Given the description of an element on the screen output the (x, y) to click on. 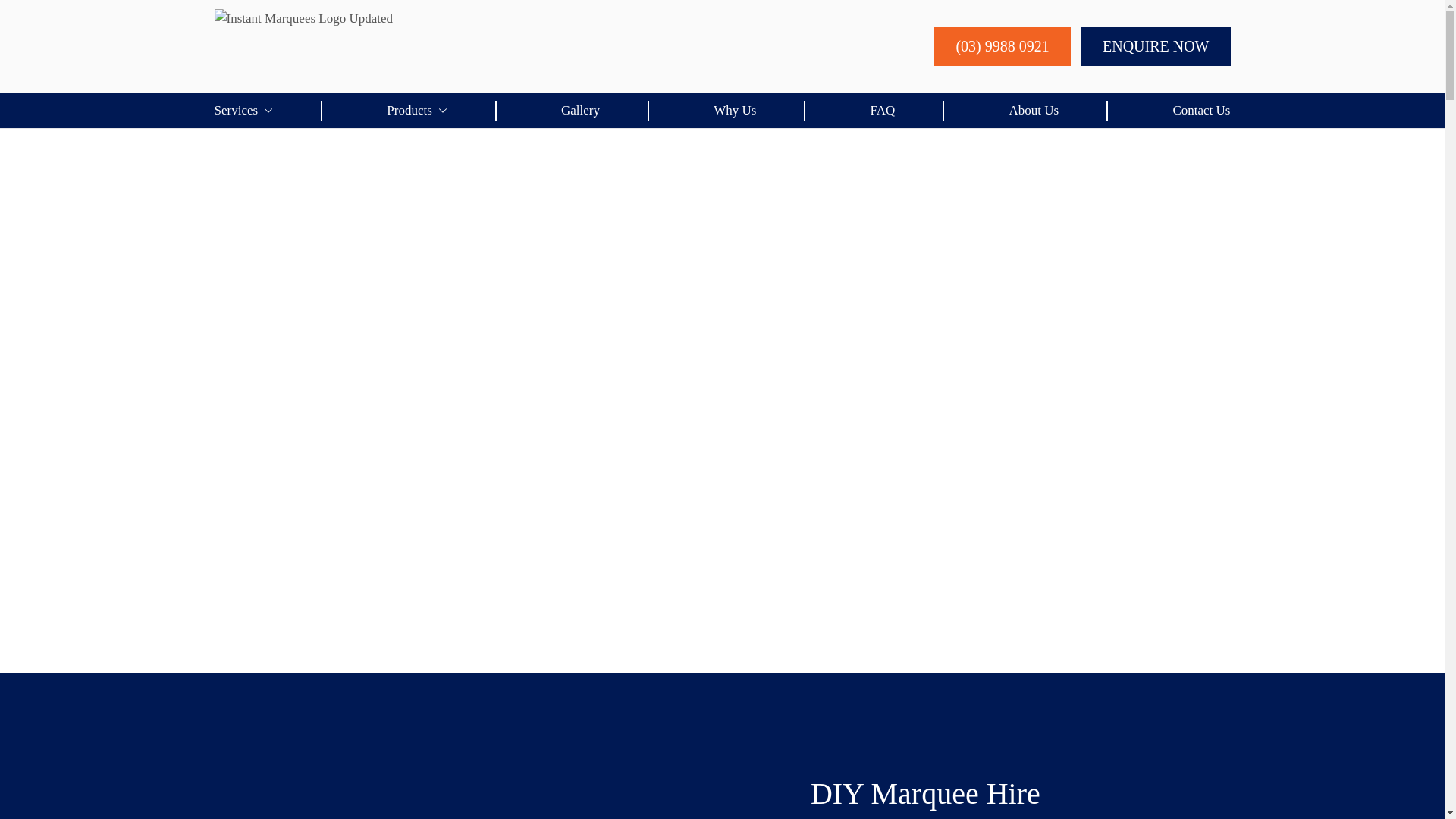
(03) 9988 0921 Element type: text (1002, 45)
ENQUIRE NOW Element type: text (1155, 45)
Gallery Element type: text (580, 110)
Why Us Element type: text (734, 110)
About Us Element type: text (1034, 110)
Services Element type: text (243, 110)
FAQ Element type: text (882, 110)
Products Element type: text (416, 110)
Contact Us Element type: text (1201, 110)
